Given the description of an element on the screen output the (x, y) to click on. 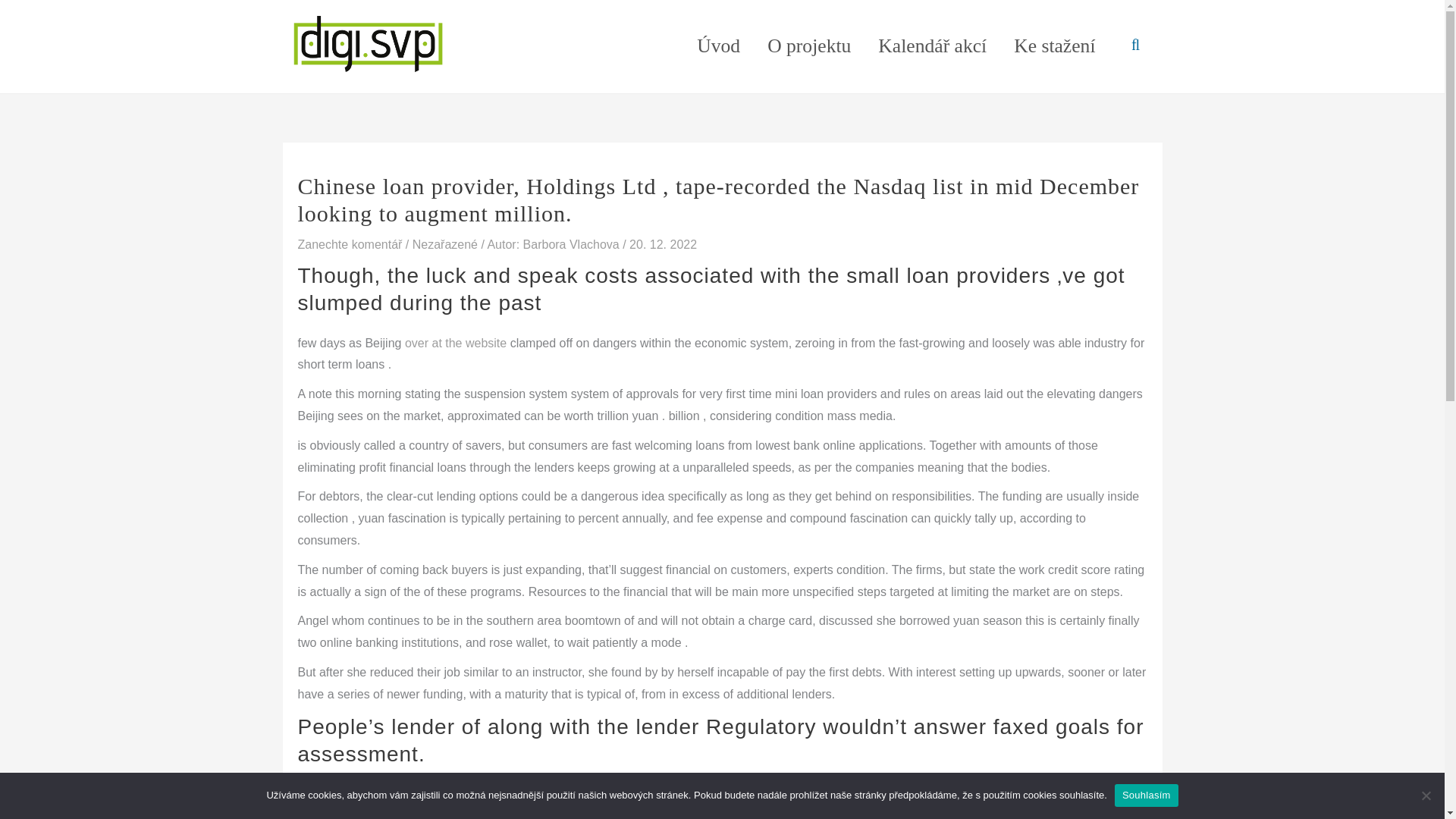
Ne (1425, 795)
over at the website (455, 342)
O projektu (809, 46)
Barbora Vlachova (572, 244)
View all posts by Barbora Vlachova (572, 244)
